Given the description of an element on the screen output the (x, y) to click on. 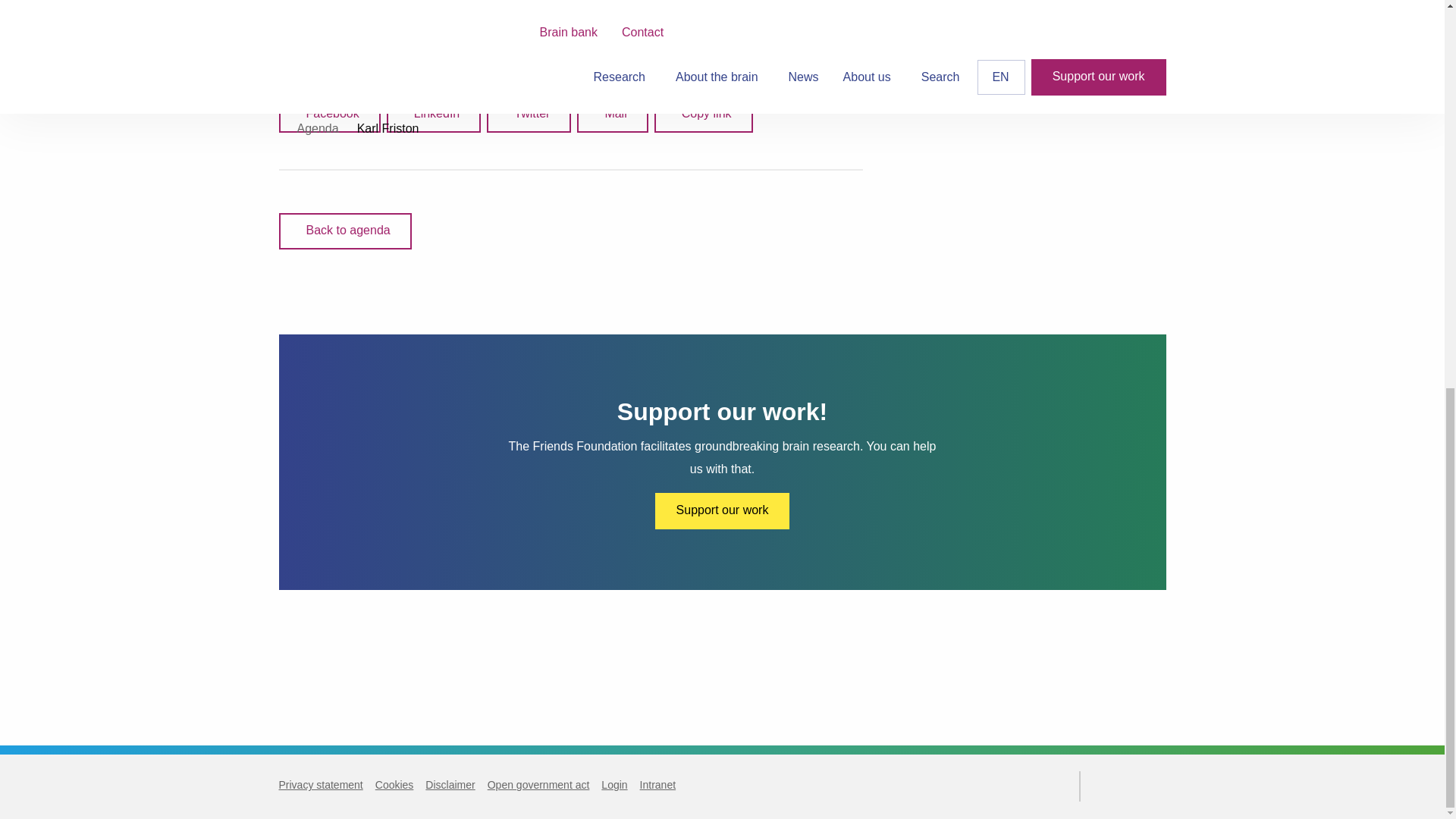
Share on LinkedIn (434, 114)
Share via mail (611, 114)
Share link (702, 114)
Share on Facebook (329, 114)
Tweet (528, 114)
